Given the description of an element on the screen output the (x, y) to click on. 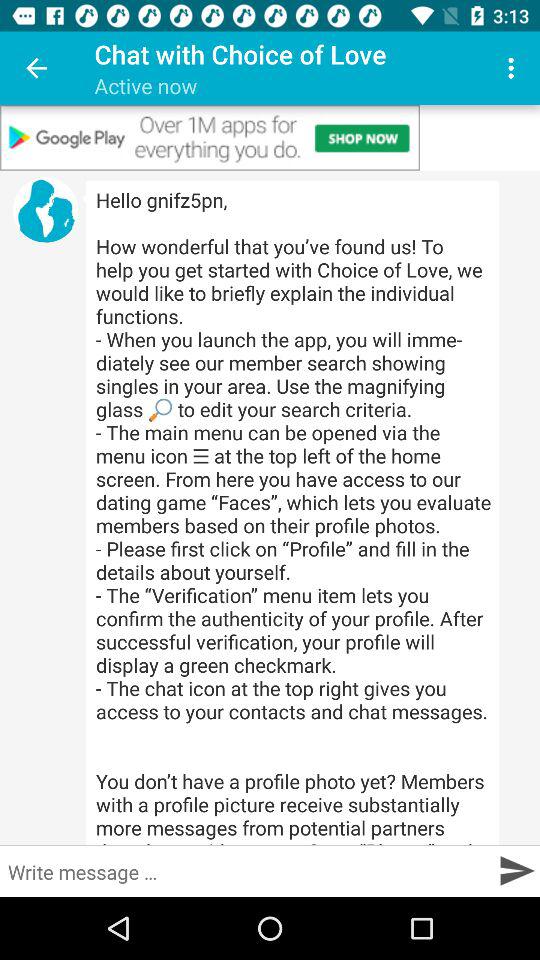
open user profile (45, 210)
